Given the description of an element on the screen output the (x, y) to click on. 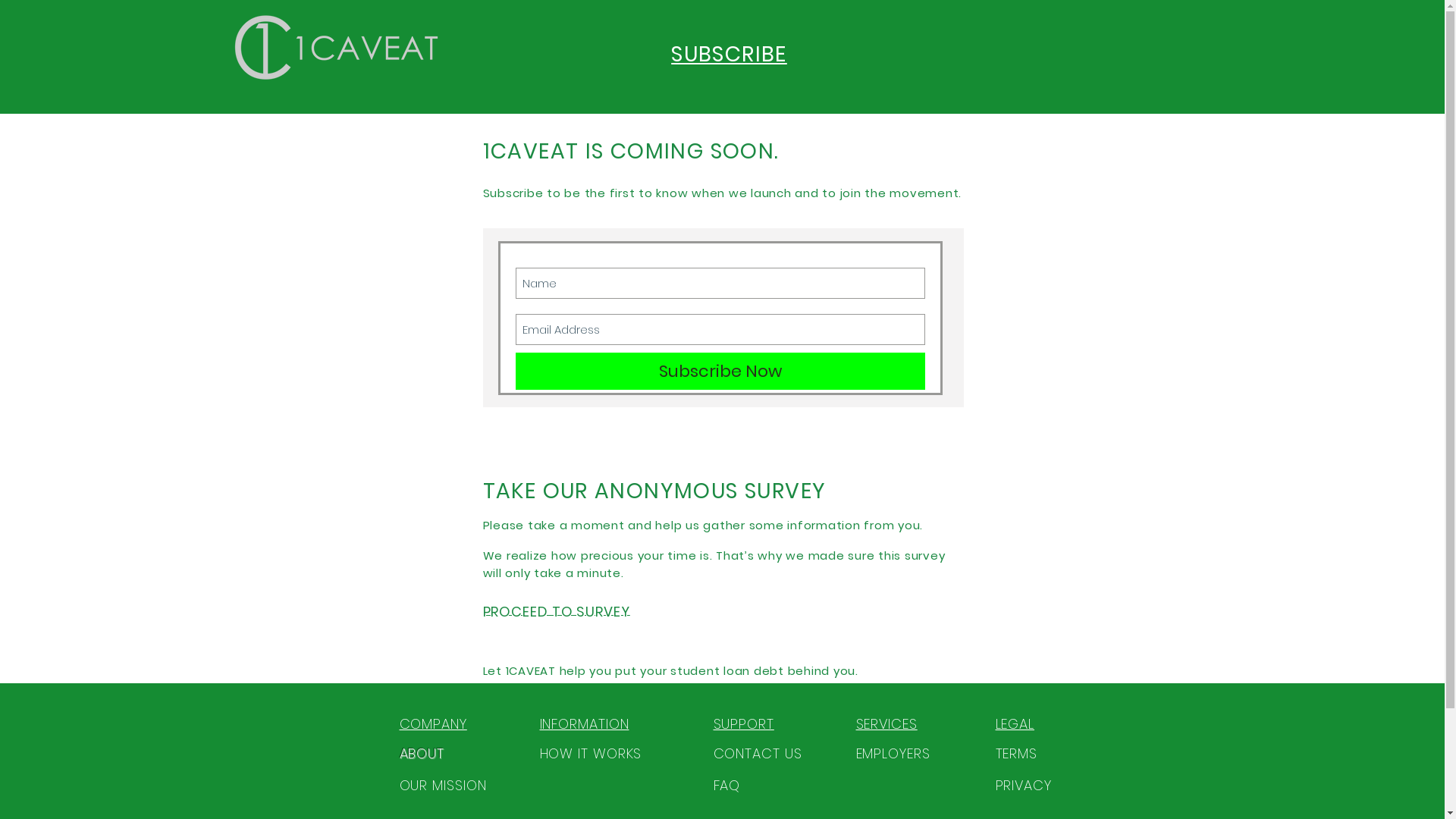
PROCEED TO SURVEY Element type: text (555, 611)
ABOUT Element type: text (421, 753)
Subscribe Now Element type: text (720, 370)
